Given the description of an element on the screen output the (x, y) to click on. 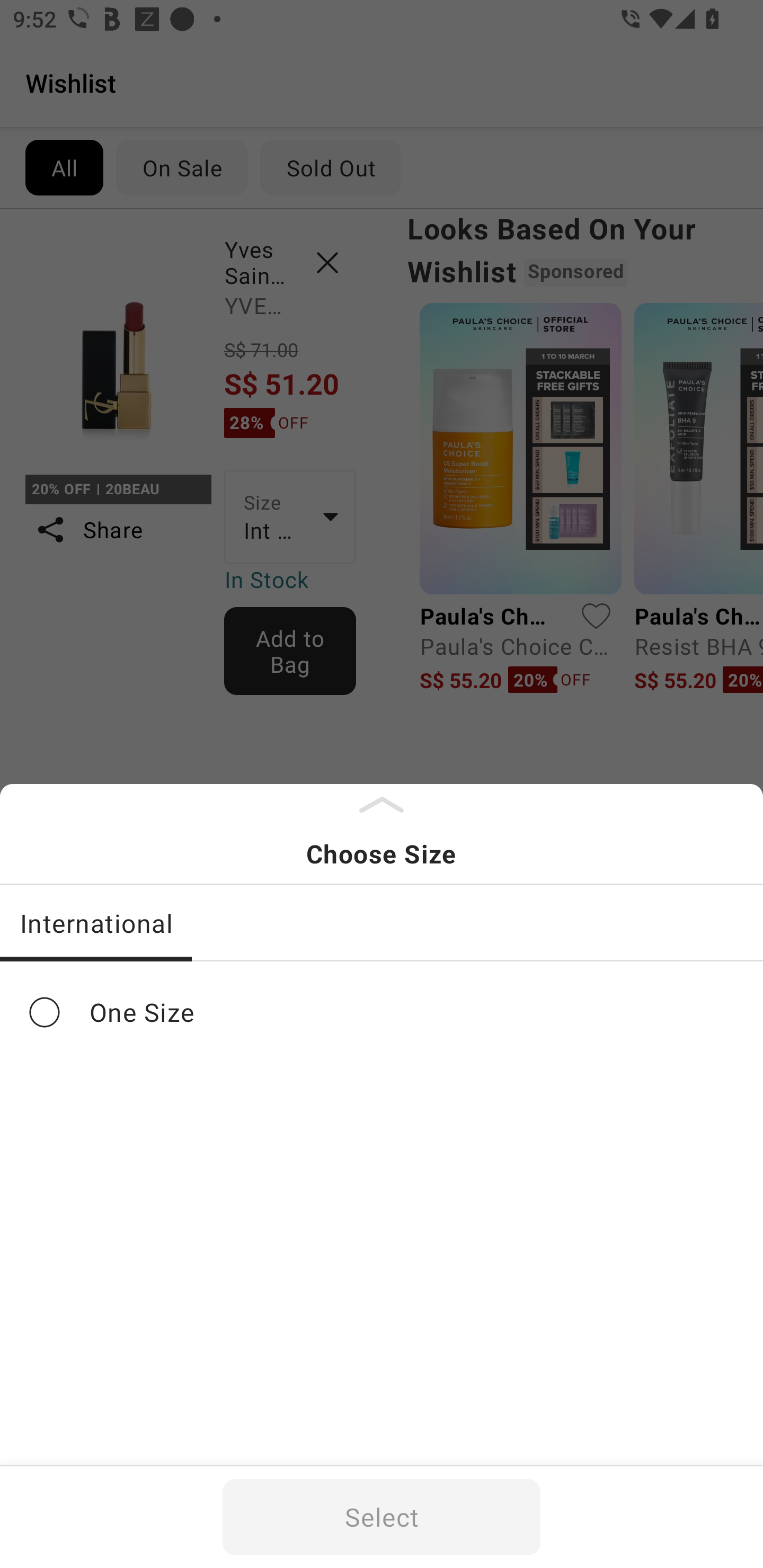
One Size (381, 1011)
Select (381, 1516)
